Given the description of an element on the screen output the (x, y) to click on. 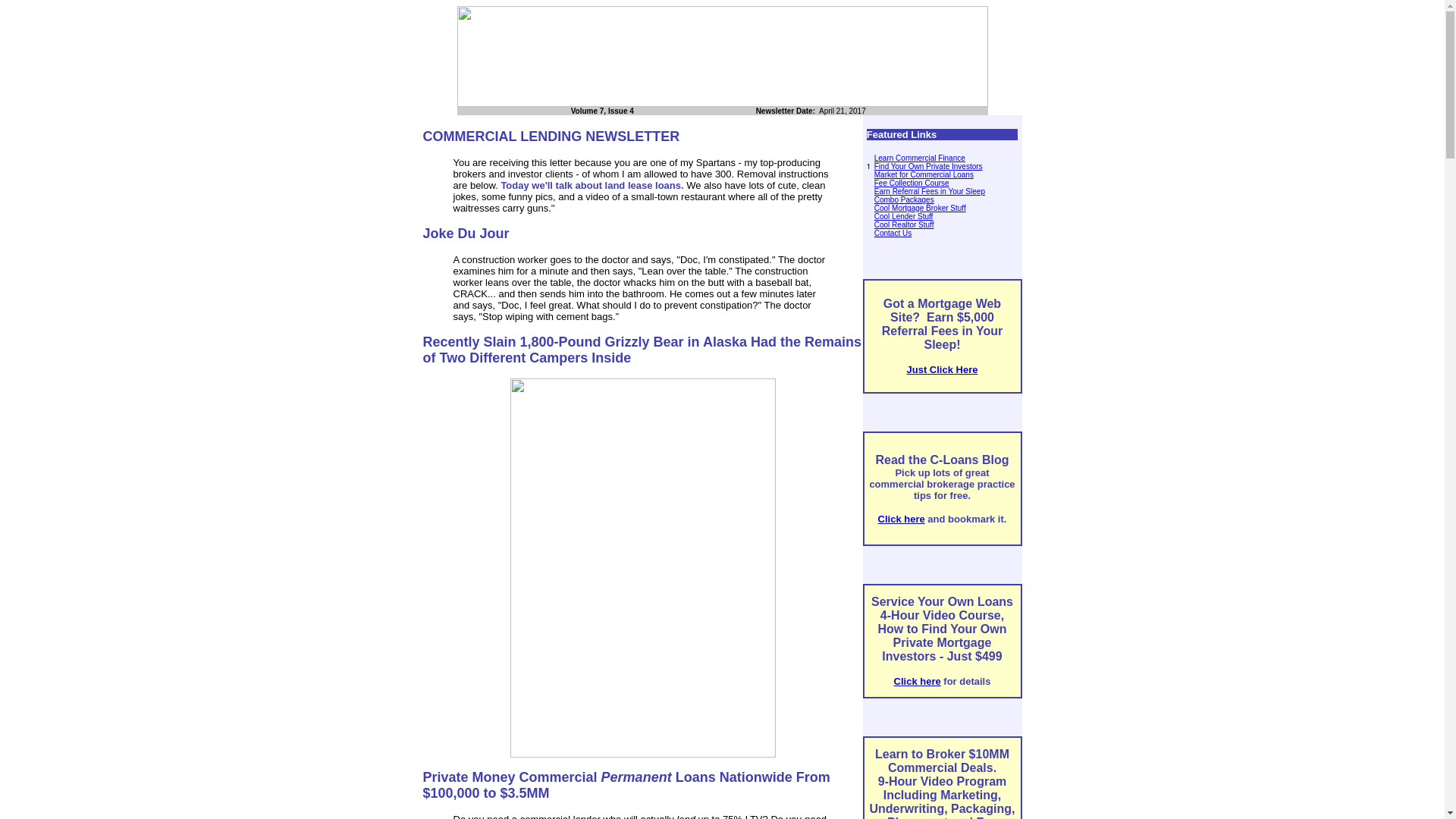
Combo Packages (904, 199)
Cool Mortgage Broker Stuff (920, 207)
Cool Lender Stuff (904, 216)
Cool Realtor Stuff (904, 224)
Fee Collection Course (912, 183)
Market for Commercial Loans (924, 174)
Just Click Here (942, 369)
Earn Referral Fees in Your Sleep (930, 191)
Click here (916, 681)
Find Your Own Private Investors (928, 166)
